Given the description of an element on the screen output the (x, y) to click on. 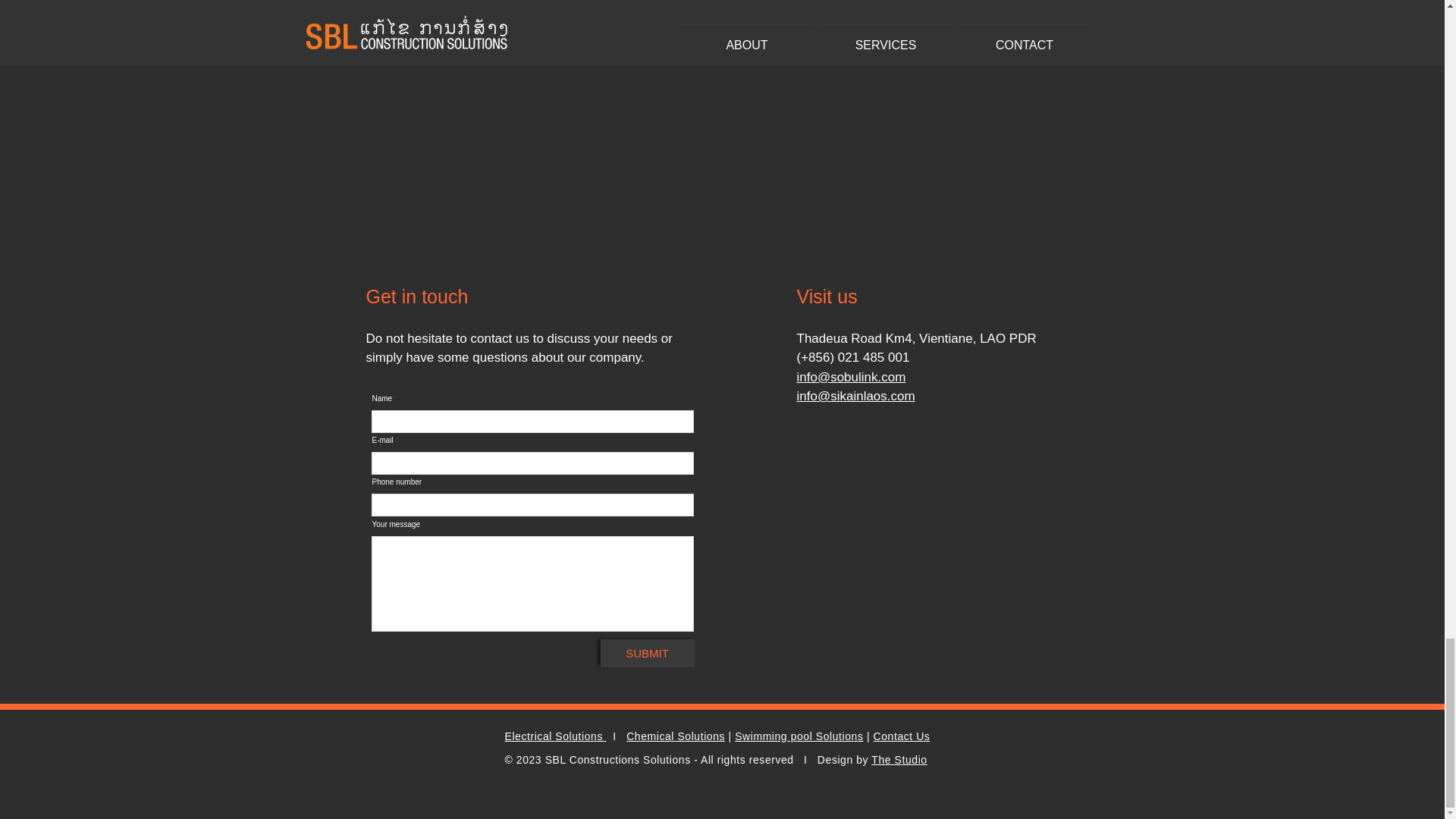
The Studio (898, 759)
Electrical Solutions (556, 736)
Swimming pool Solutions (799, 736)
Chemical Solutions (675, 736)
SUBMIT (646, 653)
Contact Us (901, 736)
